Given the description of an element on the screen output the (x, y) to click on. 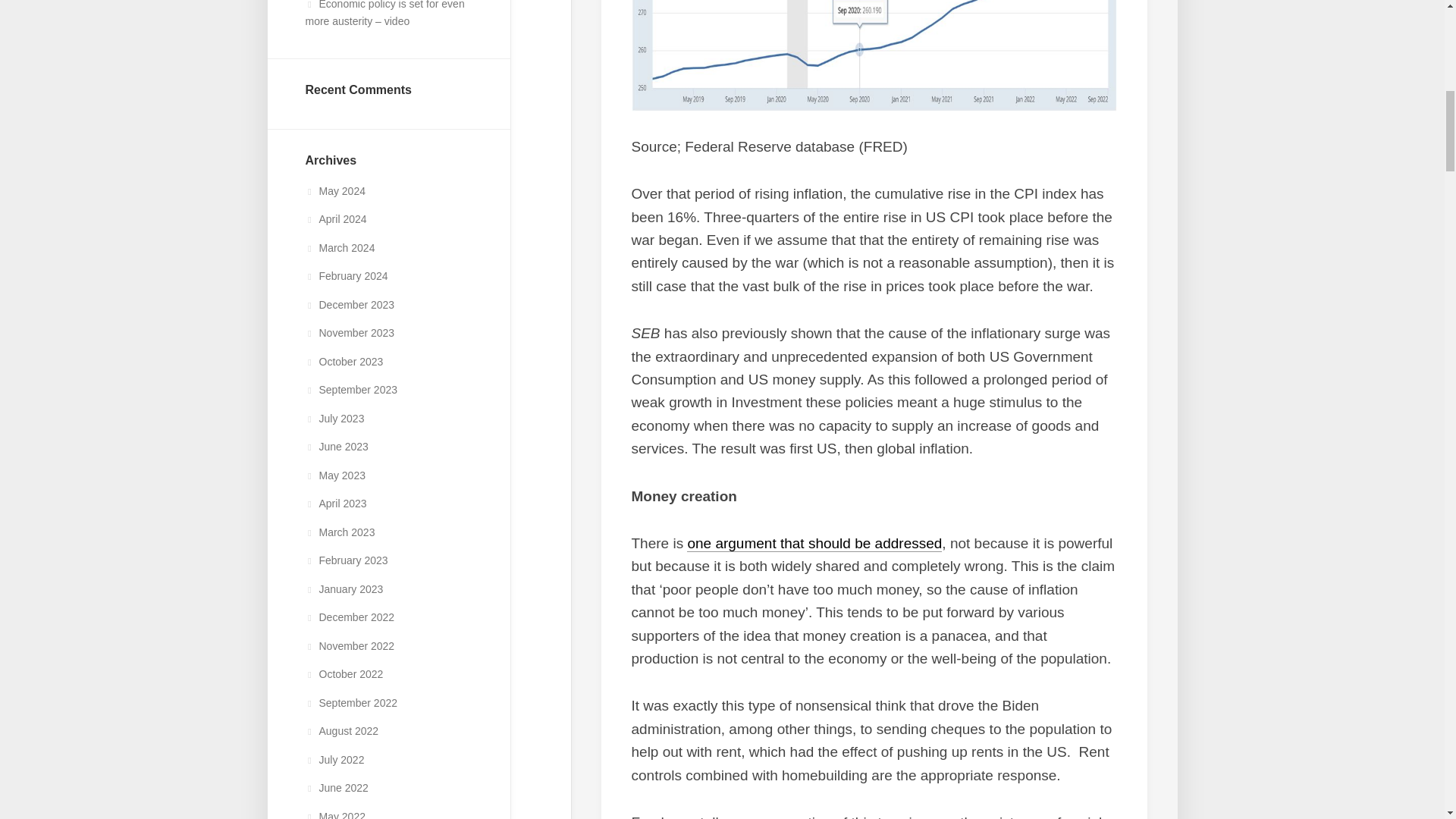
March 2023 (339, 532)
April 2024 (335, 218)
December 2022 (349, 616)
September 2022 (350, 702)
June 2023 (336, 446)
March 2024 (339, 247)
April 2023 (335, 503)
August 2022 (341, 730)
May 2024 (334, 191)
May 2022 (334, 814)
November 2023 (349, 332)
June 2022 (336, 787)
July 2022 (334, 759)
November 2022 (349, 645)
October 2022 (343, 674)
